Given the description of an element on the screen output the (x, y) to click on. 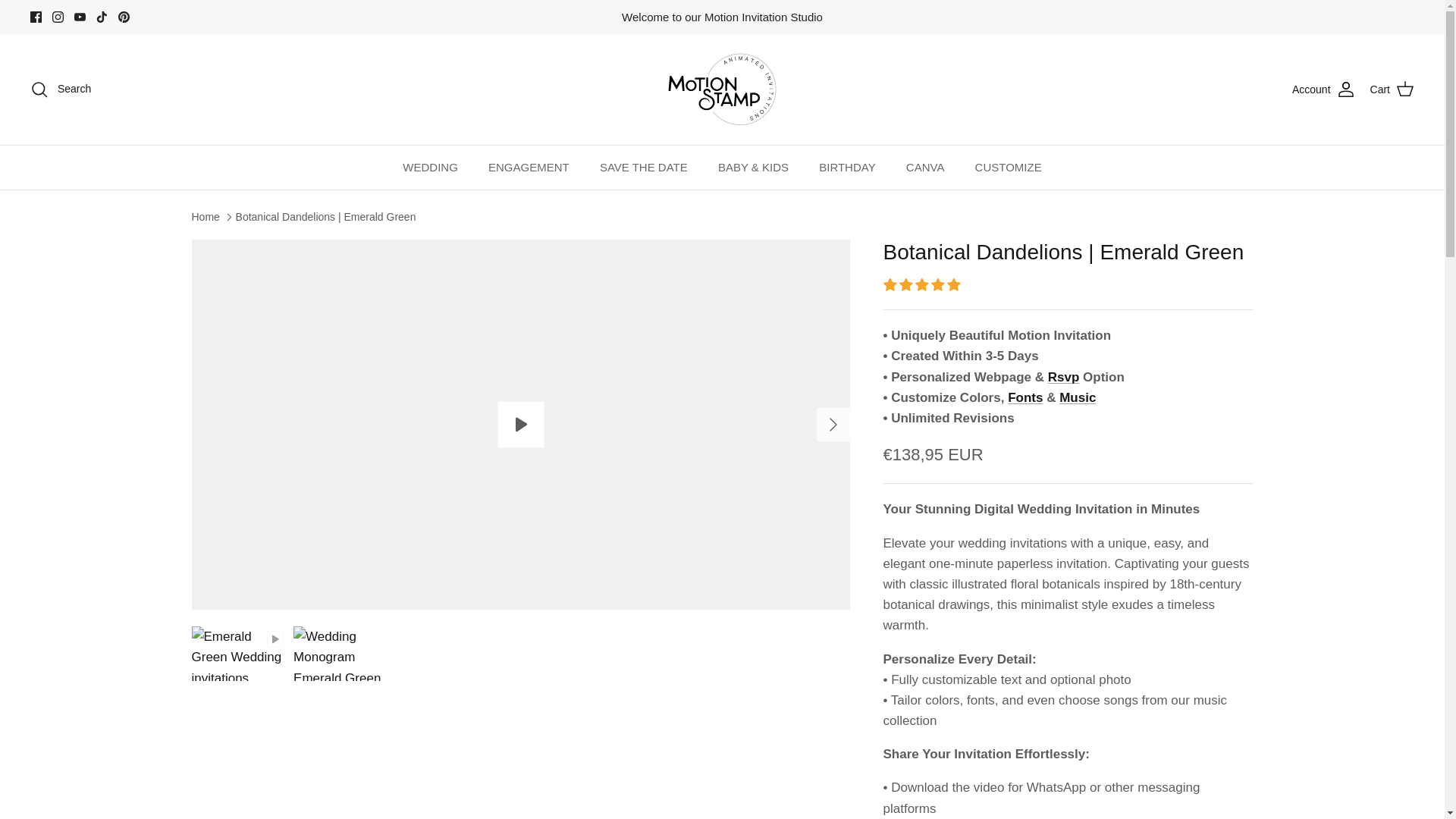
Instagram (58, 16)
RIGHT (832, 424)
Facebook (36, 16)
WEDDING (429, 167)
Online Wedding Invitation with Music (1077, 397)
Youtube (79, 16)
wedding invitation rsvp online (1064, 377)
Instagram (58, 16)
Best Fonts for Wedding Invitations (1024, 397)
Facebook (36, 16)
Pinterest (123, 16)
Search (60, 89)
Account (1323, 89)
Cart (1391, 89)
